Given the description of an element on the screen output the (x, y) to click on. 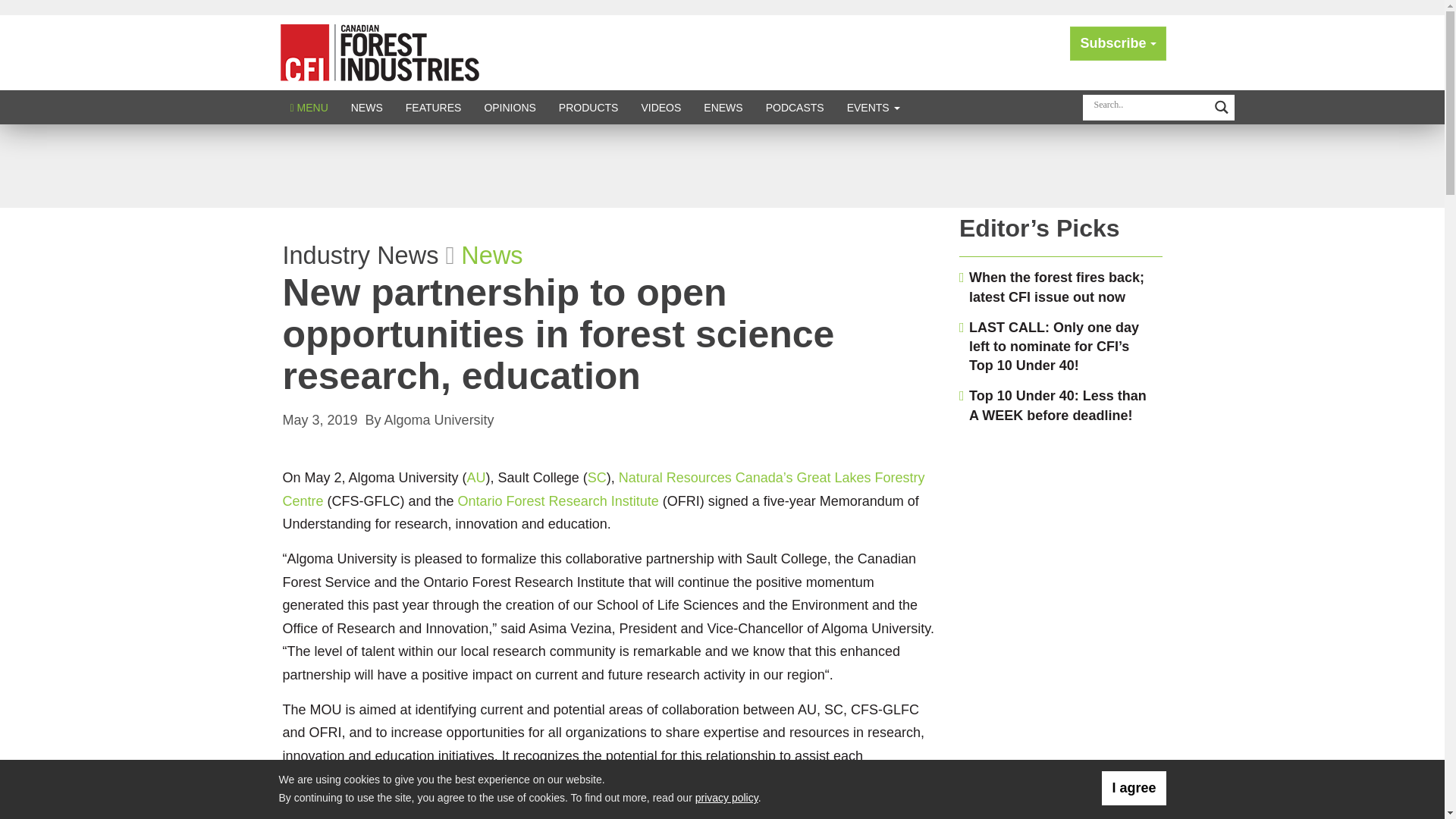
PRODUCTS (588, 107)
3rd party ad content (721, 165)
Wood Business (379, 51)
FEATURES (433, 107)
Subscribe (1118, 43)
OPINIONS (509, 107)
EVENTS (873, 107)
ENEWS (723, 107)
PODCASTS (794, 107)
Click to show site navigation (309, 107)
